Given the description of an element on the screen output the (x, y) to click on. 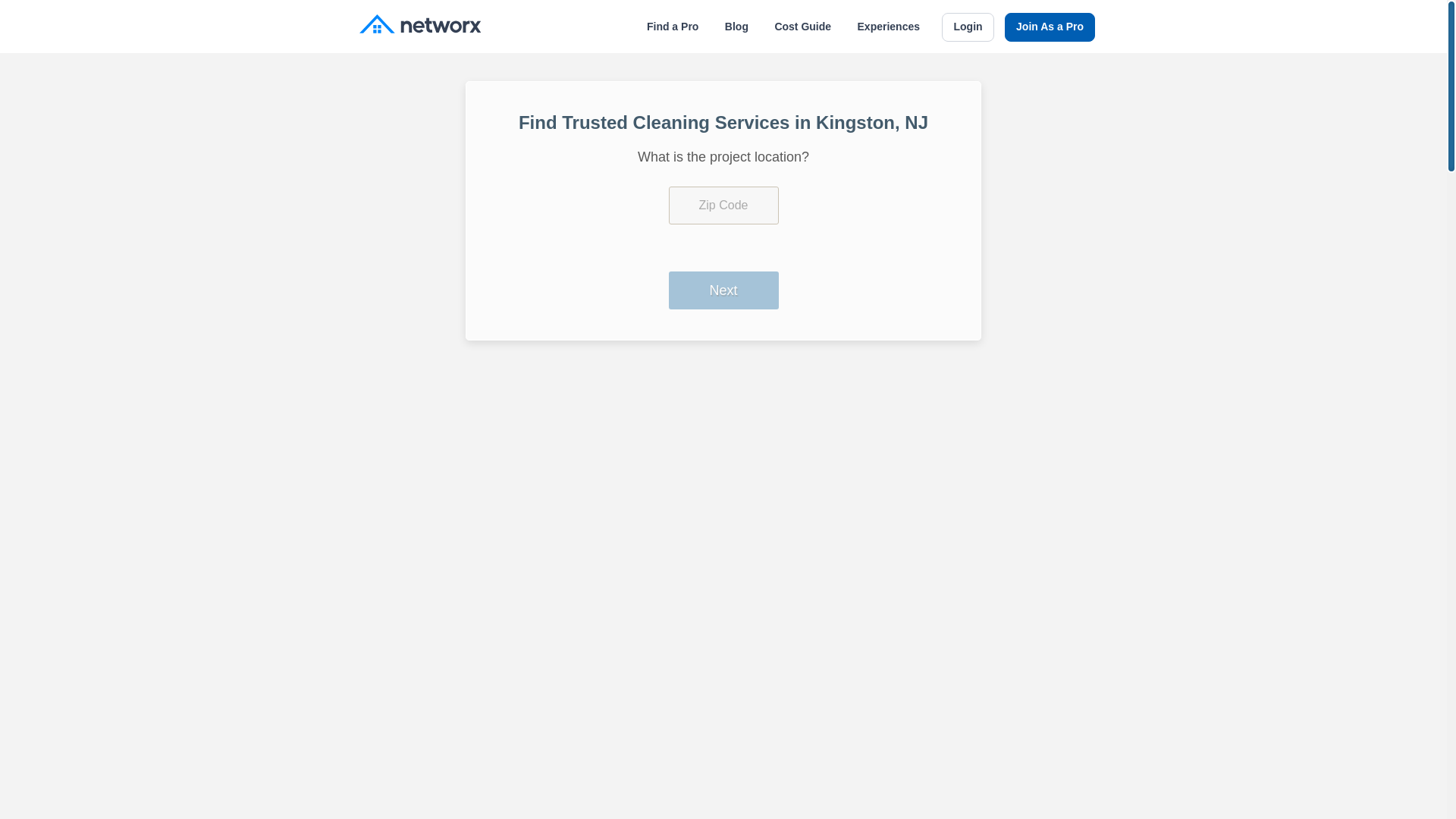
Please enter a valid zip code (723, 205)
Cost Guide (802, 26)
Networx (419, 25)
Join As a Pro (1049, 27)
Login (967, 27)
Experiences (888, 26)
Find a Pro (672, 26)
Next (723, 290)
